Given the description of an element on the screen output the (x, y) to click on. 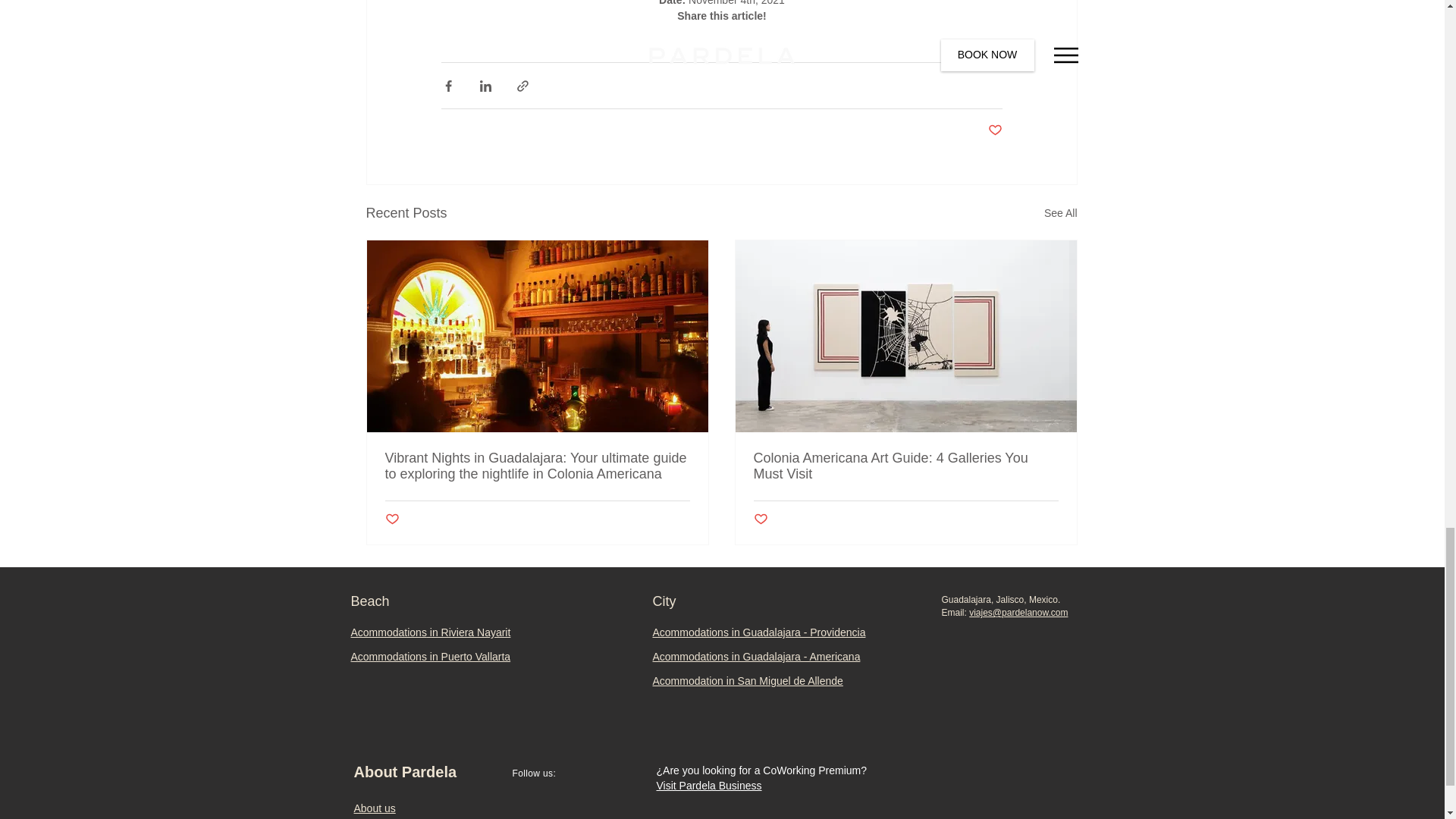
Post not marked as liked (761, 519)
Acommodation in San Miguel de Allende (747, 680)
Acommodations (388, 632)
Post not marked as liked (391, 519)
Post not marked as liked (994, 130)
Acommodations in Puerto Vallarta (430, 656)
Colonia Americana Art Guide: 4 Galleries You Must Visit (906, 466)
Acommodations in Guadalajara - Americana (756, 656)
Acommodations in Guadalajara - Providencia (758, 632)
